Given the description of an element on the screen output the (x, y) to click on. 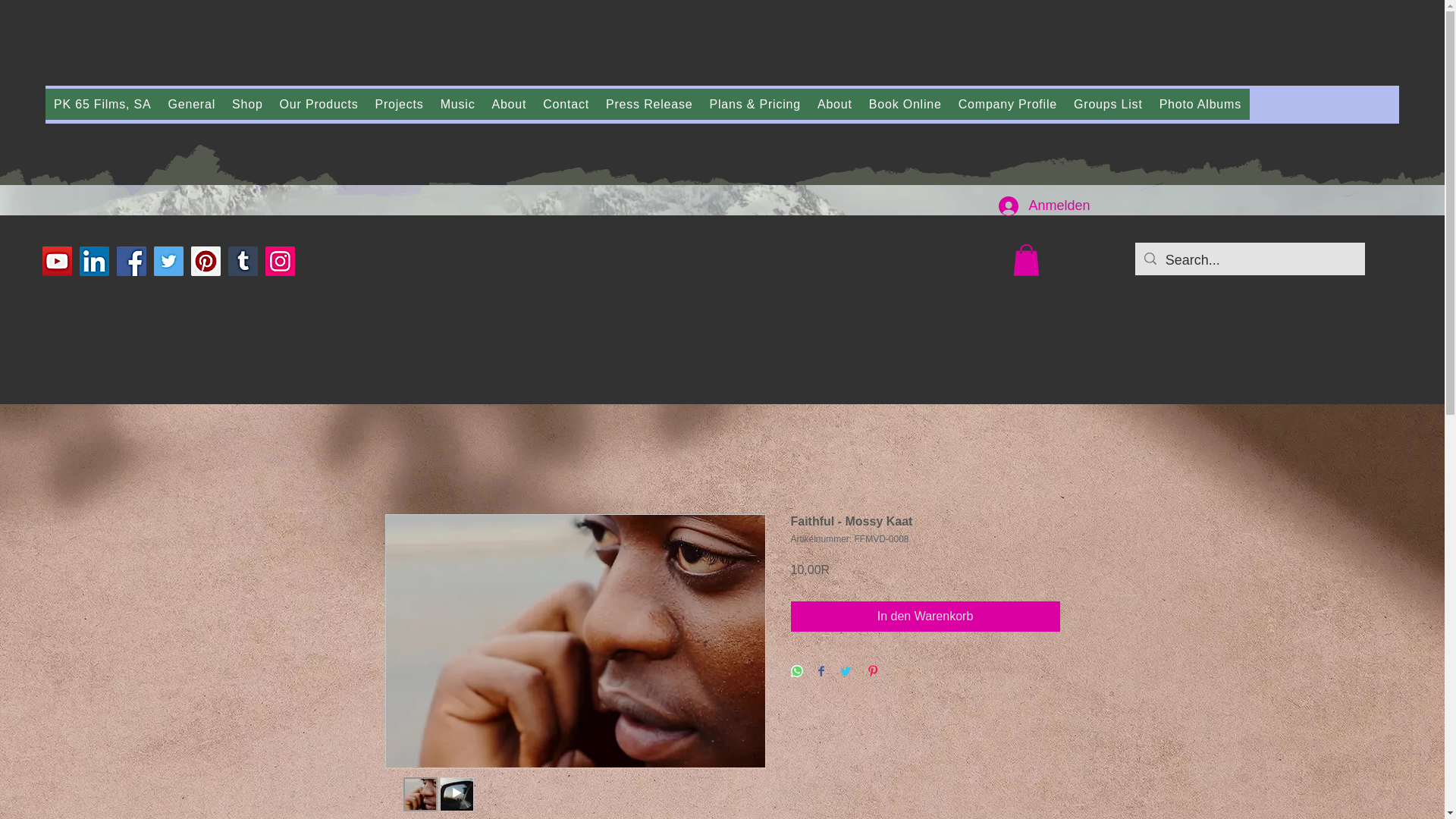
Music (457, 103)
General (191, 103)
About (508, 103)
Press Release (648, 103)
Projects (398, 103)
PK 65 Films, SA (101, 103)
Groups List (1108, 103)
Contact (565, 103)
Shop (247, 103)
Company Profile (1007, 103)
